Given the description of an element on the screen output the (x, y) to click on. 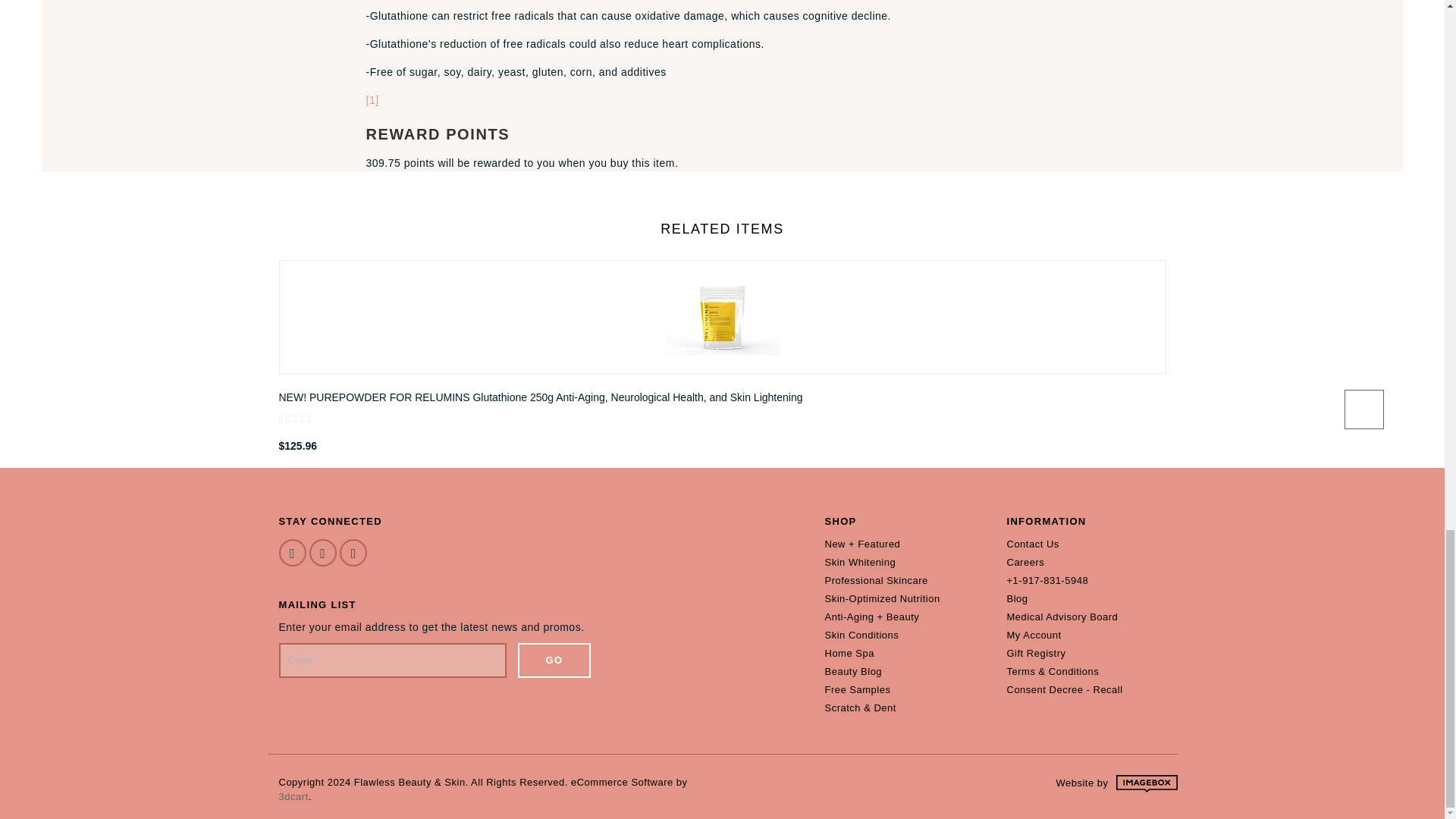
Like Us on Facebook (292, 552)
Follow Us on Instagram (322, 552)
GO (553, 660)
Subscribe to our Channel (352, 552)
